Given the description of an element on the screen output the (x, y) to click on. 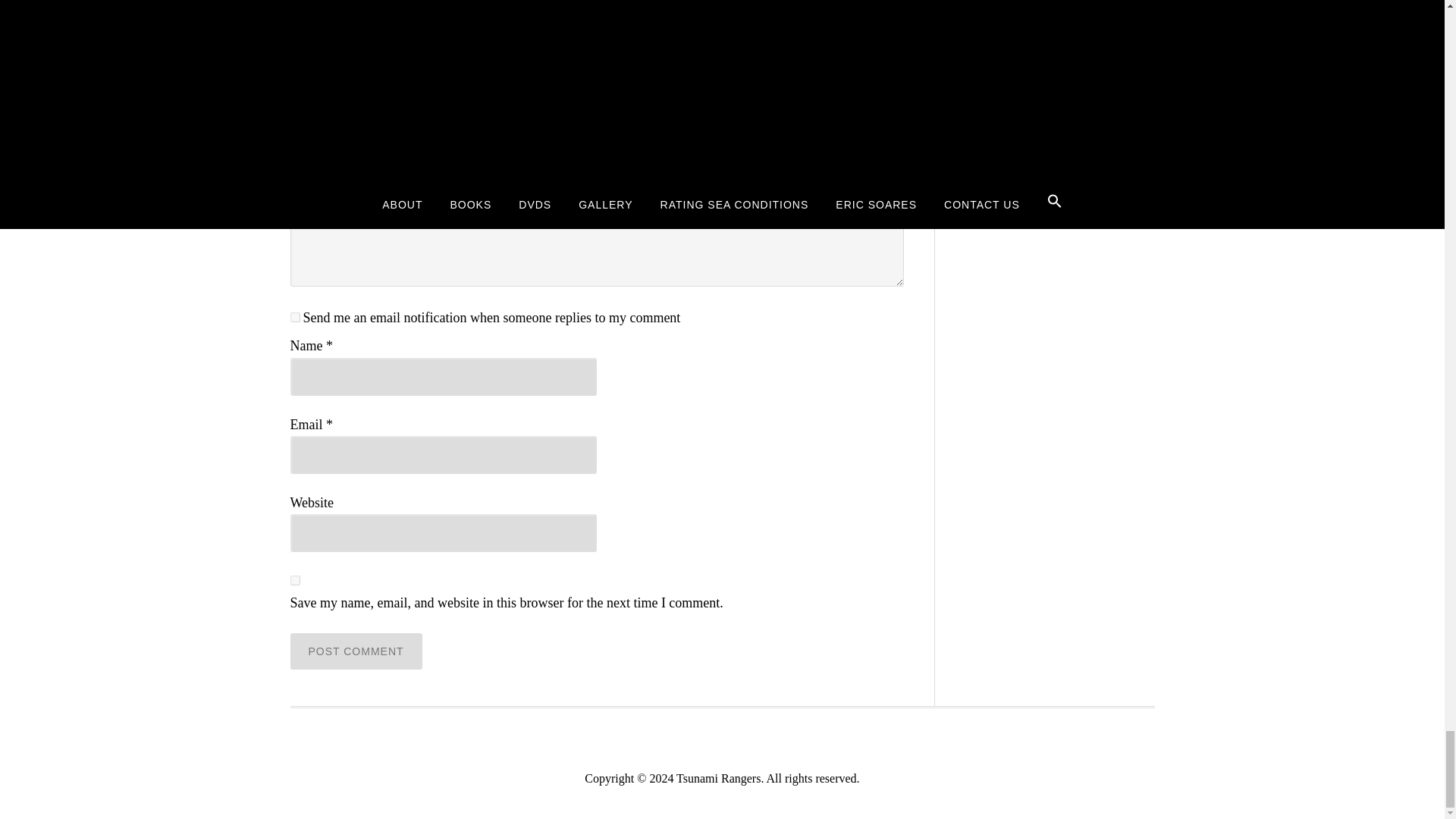
Post Comment (355, 651)
1 (294, 317)
yes (294, 580)
